Given the description of an element on the screen output the (x, y) to click on. 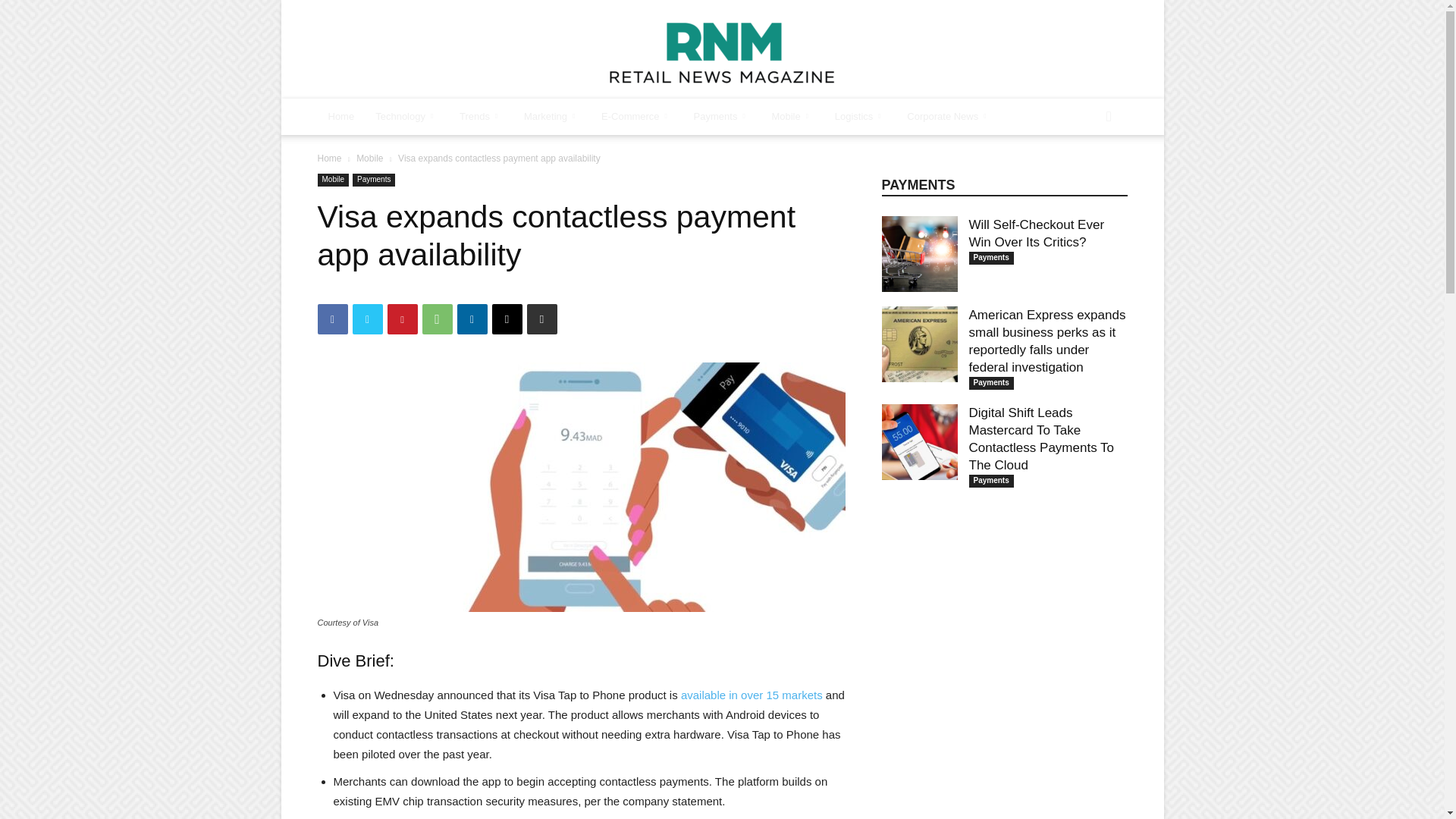
retailnewsmagazine.com (721, 49)
Trends (480, 116)
Home (341, 116)
Technology (406, 116)
